Given the description of an element on the screen output the (x, y) to click on. 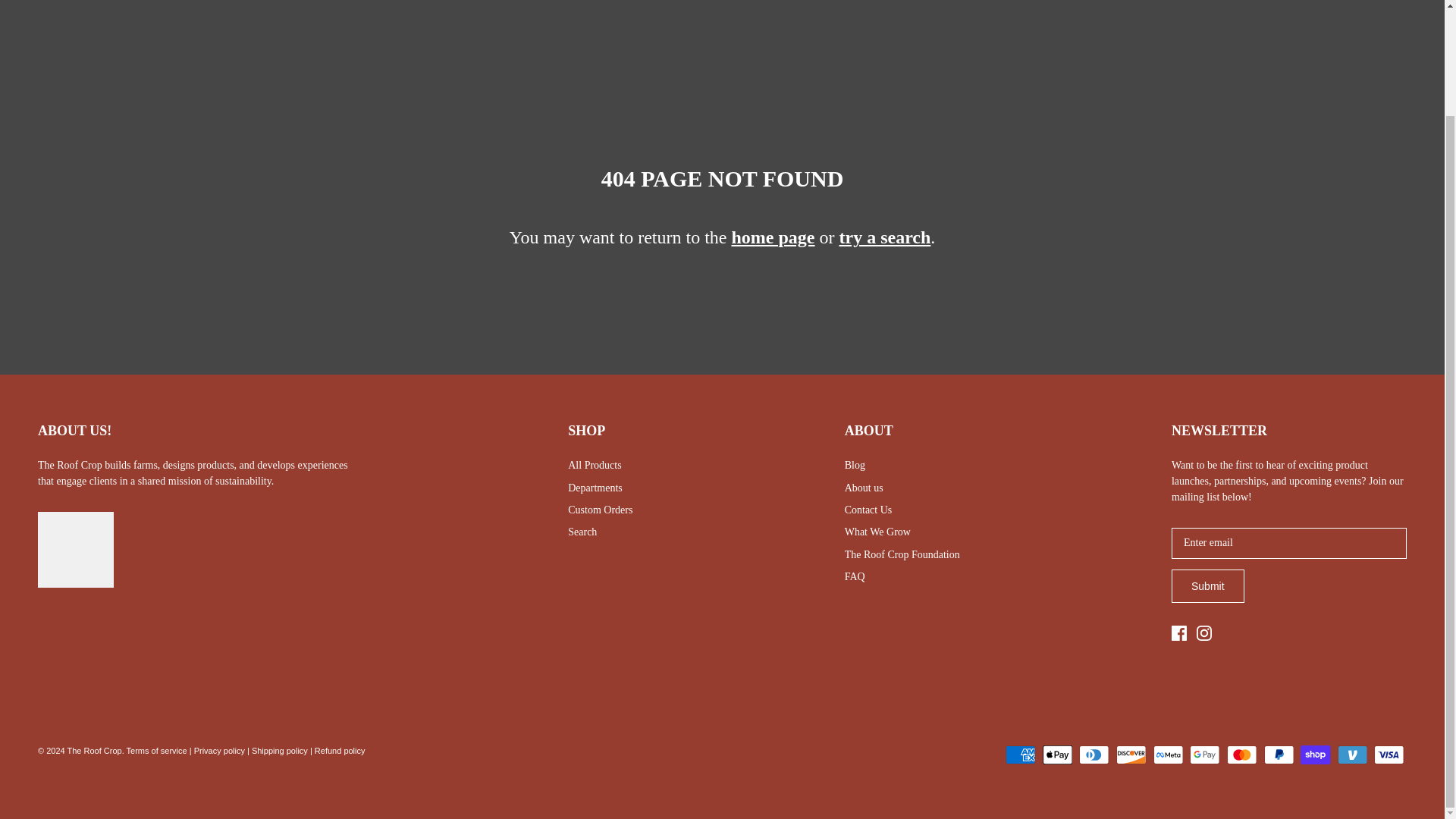
Apple Pay (1057, 754)
Diners Club (1093, 754)
PayPal (1277, 754)
The Roof Crop (73, 13)
Shop Pay (1315, 754)
Google Pay (1204, 754)
Discover (1130, 754)
Venmo (1352, 754)
try a search (884, 237)
Instagram (1203, 632)
